Given the description of an element on the screen output the (x, y) to click on. 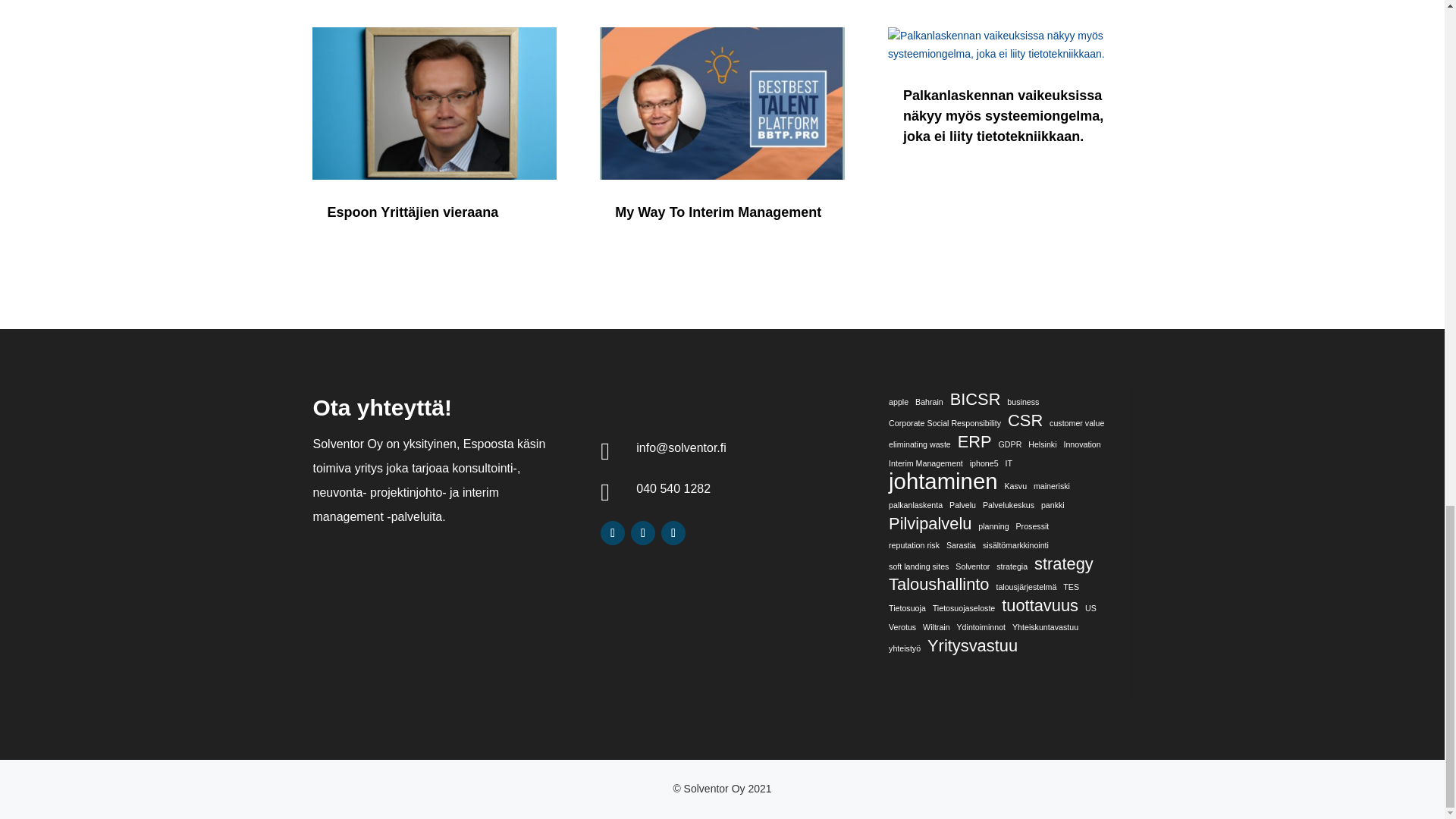
Seuraa LinkedIn (611, 532)
Seuraa X (673, 532)
Seuraa Facebook (642, 532)
